Given the description of an element on the screen output the (x, y) to click on. 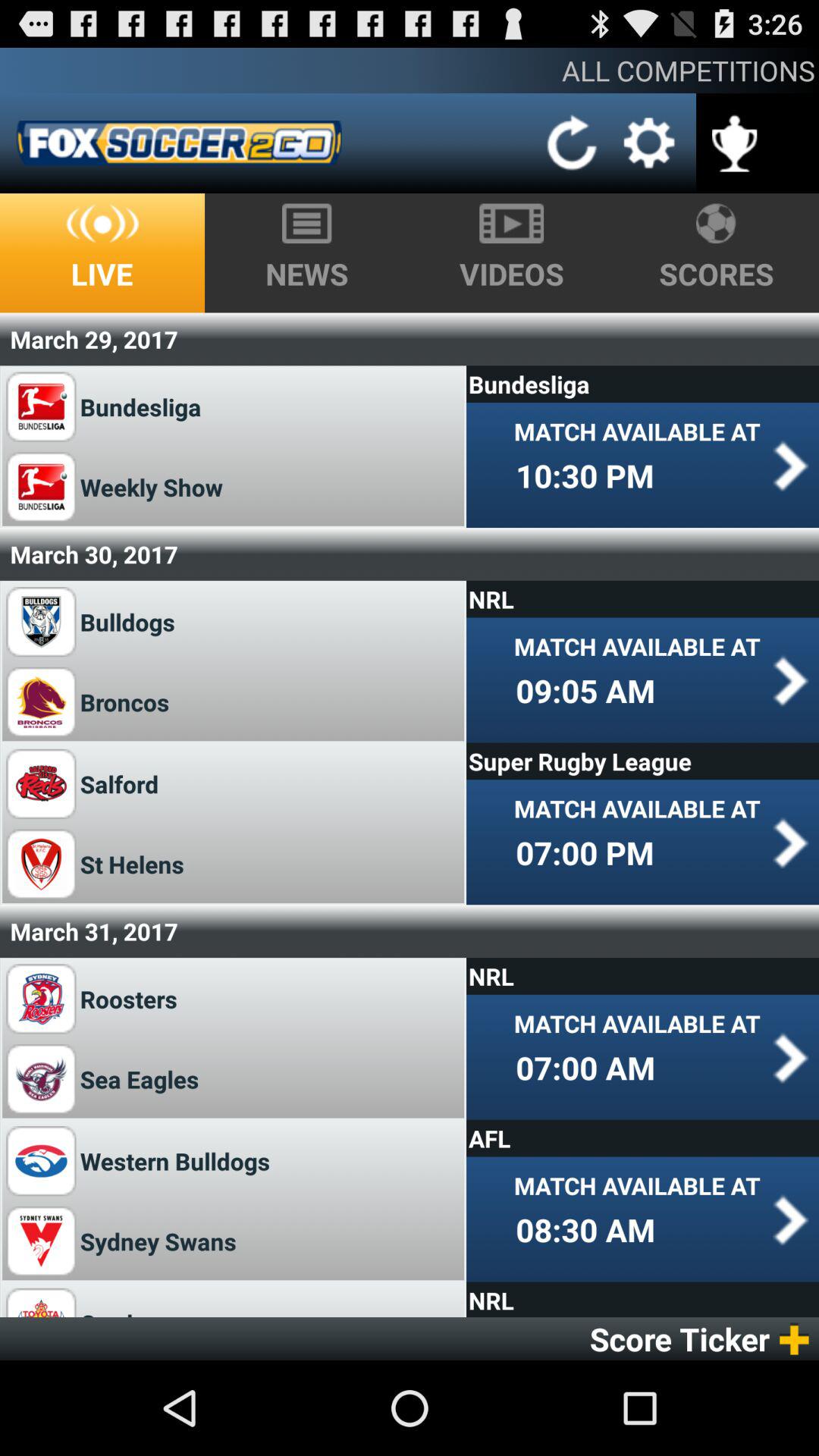
open icon next to nrl (129, 1310)
